Given the description of an element on the screen output the (x, y) to click on. 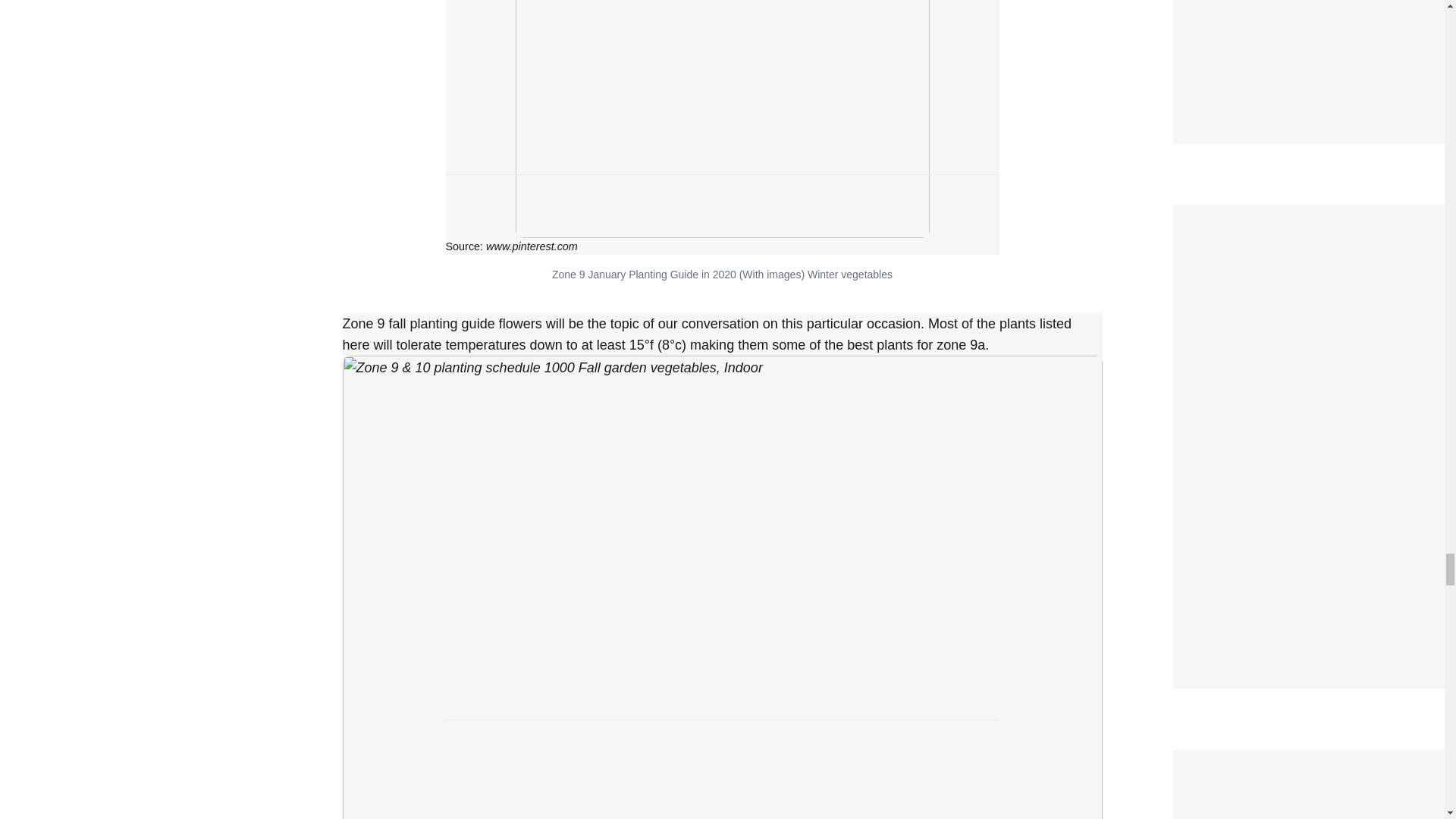
What Plants Are Good For Vertical Garden (1309, 759)
Best Garden Landscape Design Software (1306, 214)
